Given the description of an element on the screen output the (x, y) to click on. 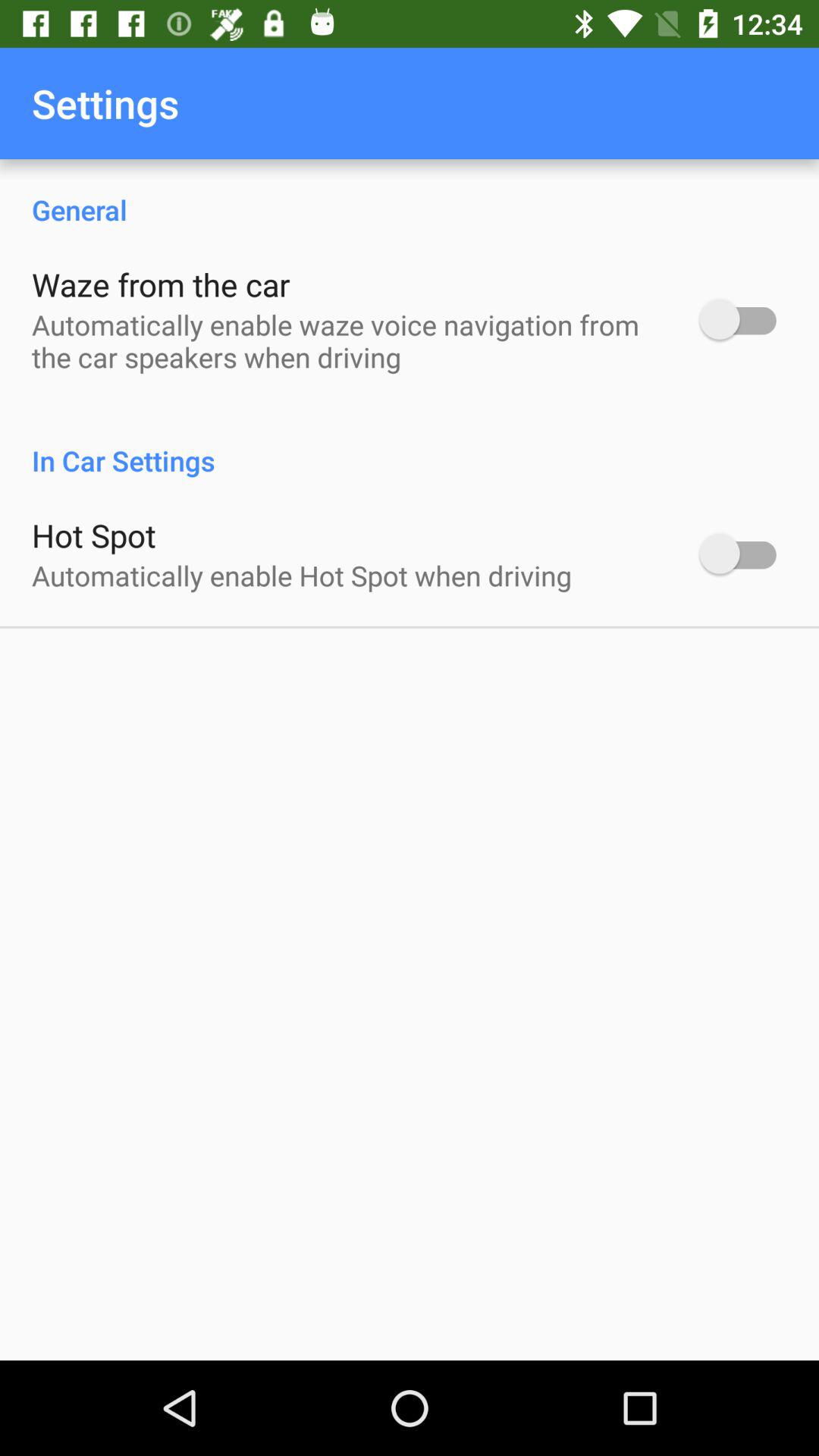
turn off the in car settings (409, 444)
